Given the description of an element on the screen output the (x, y) to click on. 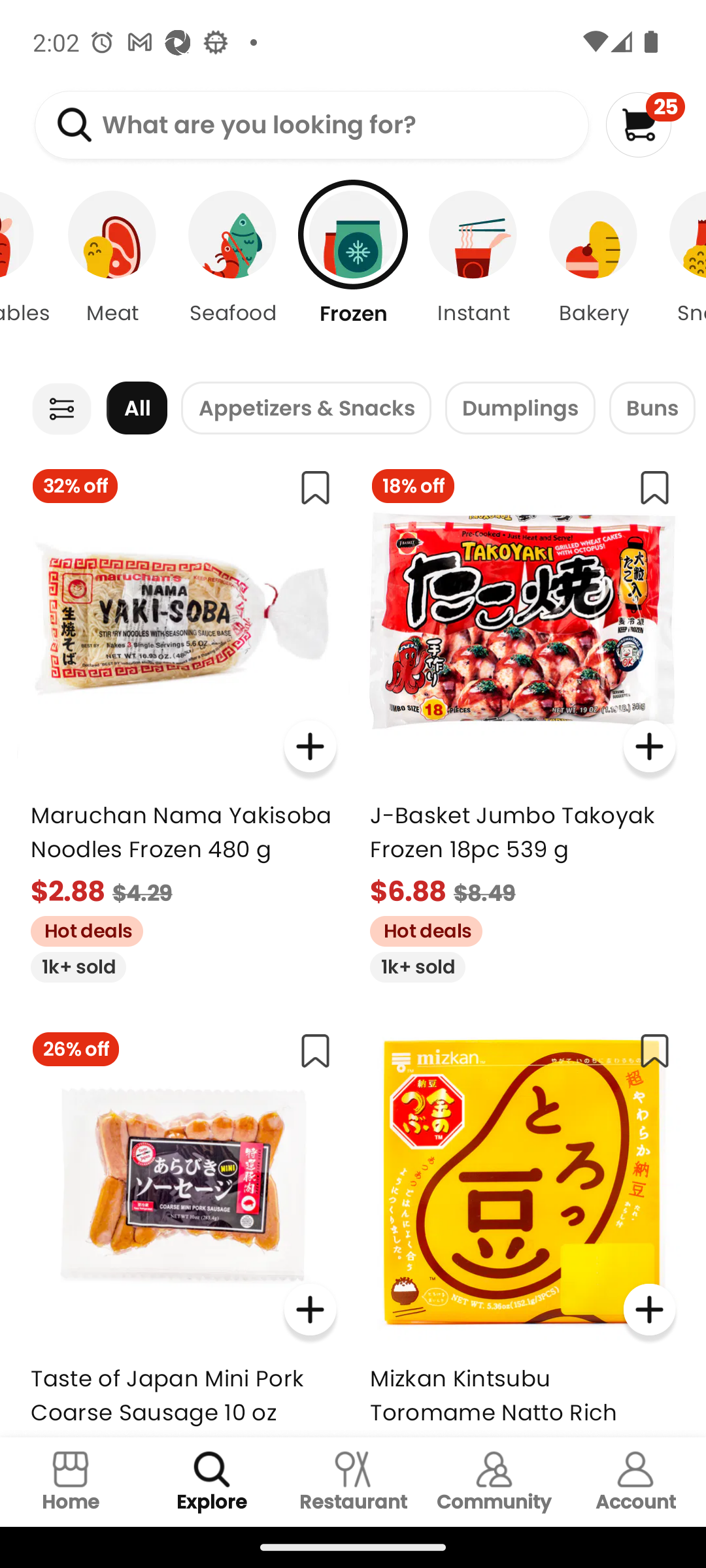
What are you looking for? (311, 124)
25 (644, 124)
Meat (112, 274)
Seafood (232, 274)
Frozen (352, 274)
Instant (473, 274)
Bakery (593, 274)
All (136, 407)
Appetizers & Snacks (305, 407)
Dumplings (520, 407)
Buns (652, 407)
Hot deals (79, 929)
Hot deals (419, 929)
Home (70, 1482)
Explore (211, 1482)
Restaurant (352, 1482)
Community (493, 1482)
Account (635, 1482)
